Given the description of an element on the screen output the (x, y) to click on. 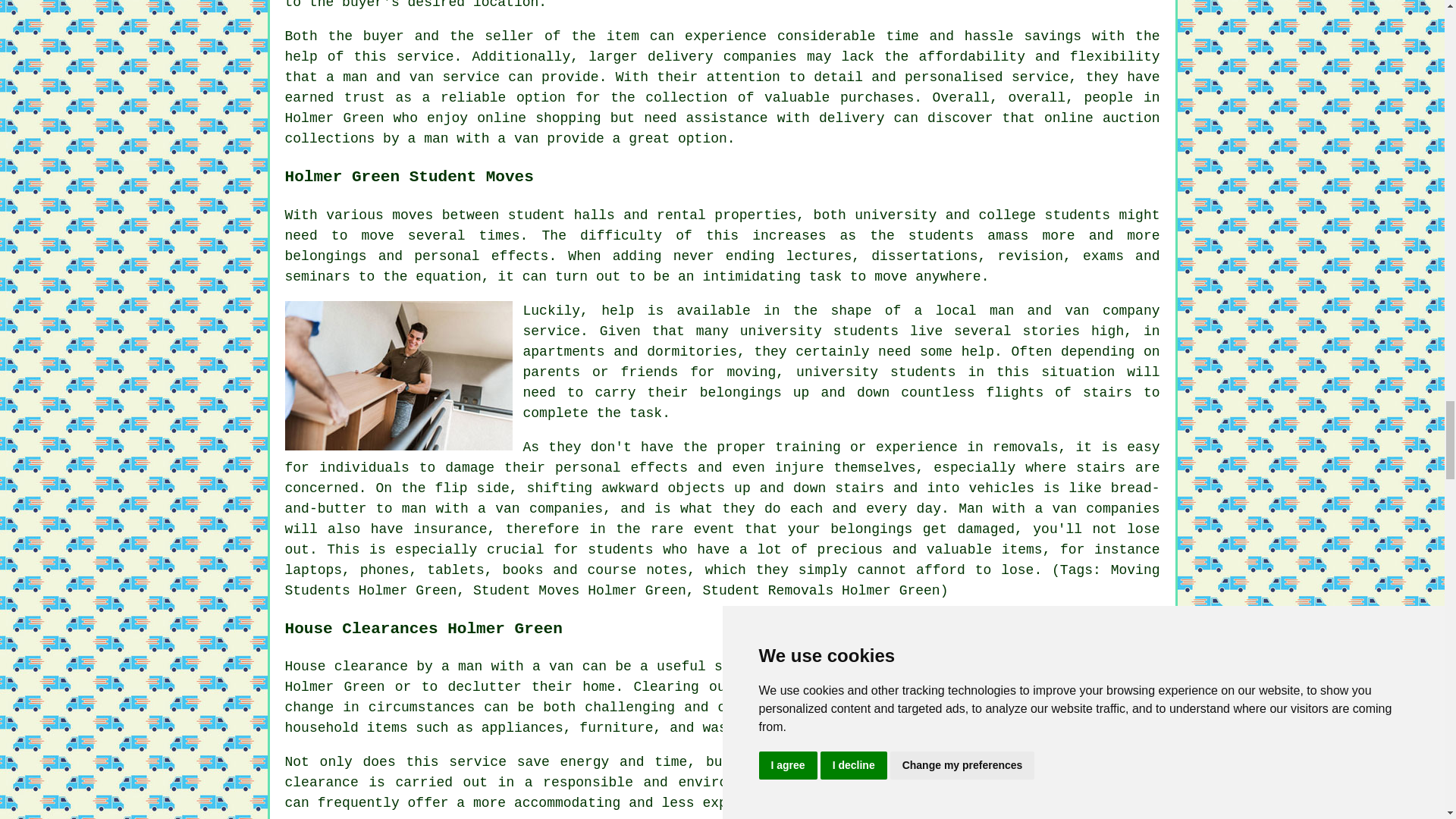
Student Moves Holmer Green (398, 375)
man and van (1039, 310)
